Given the description of an element on the screen output the (x, y) to click on. 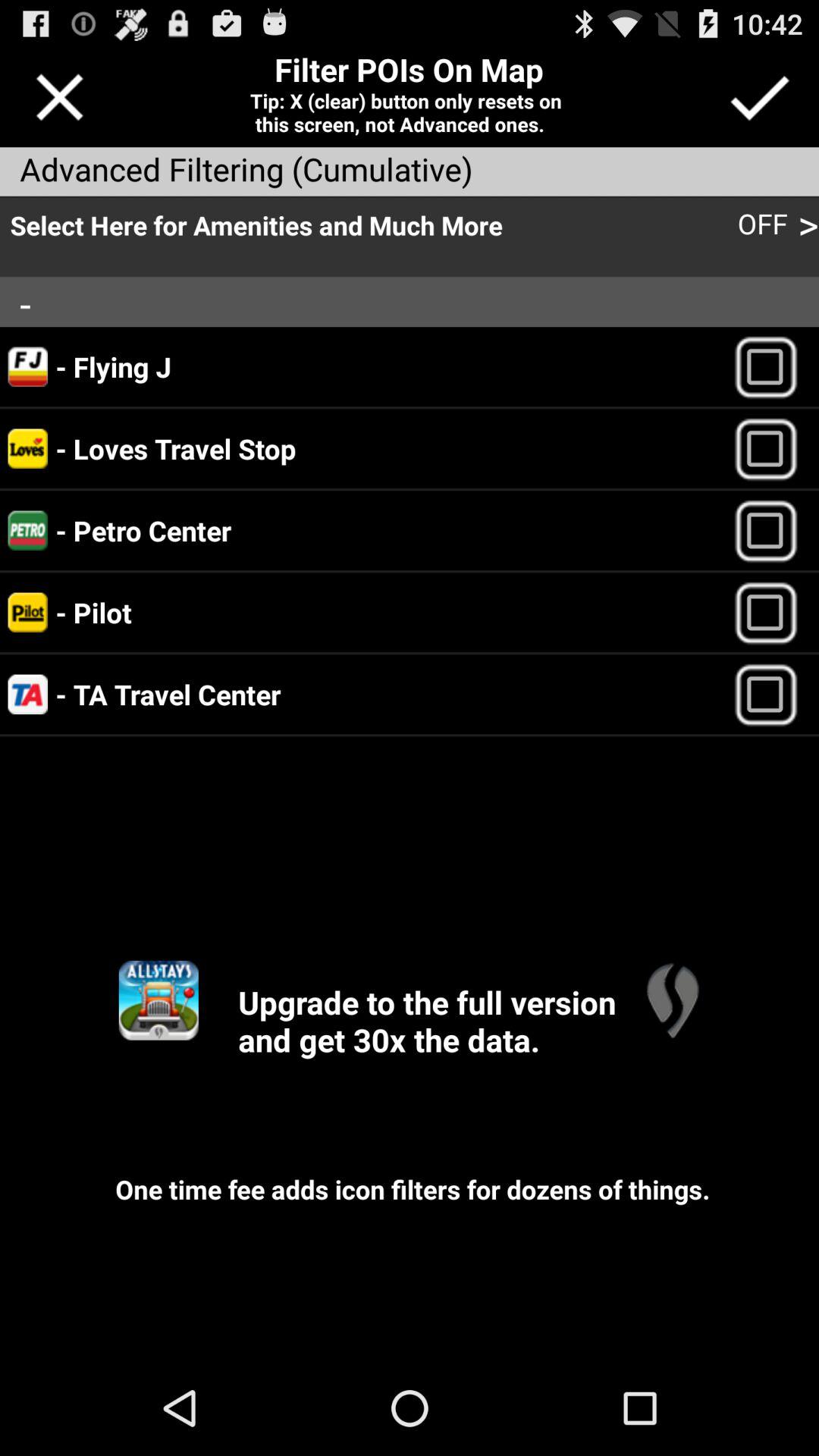
open upgraded app (158, 1000)
